Given the description of an element on the screen output the (x, y) to click on. 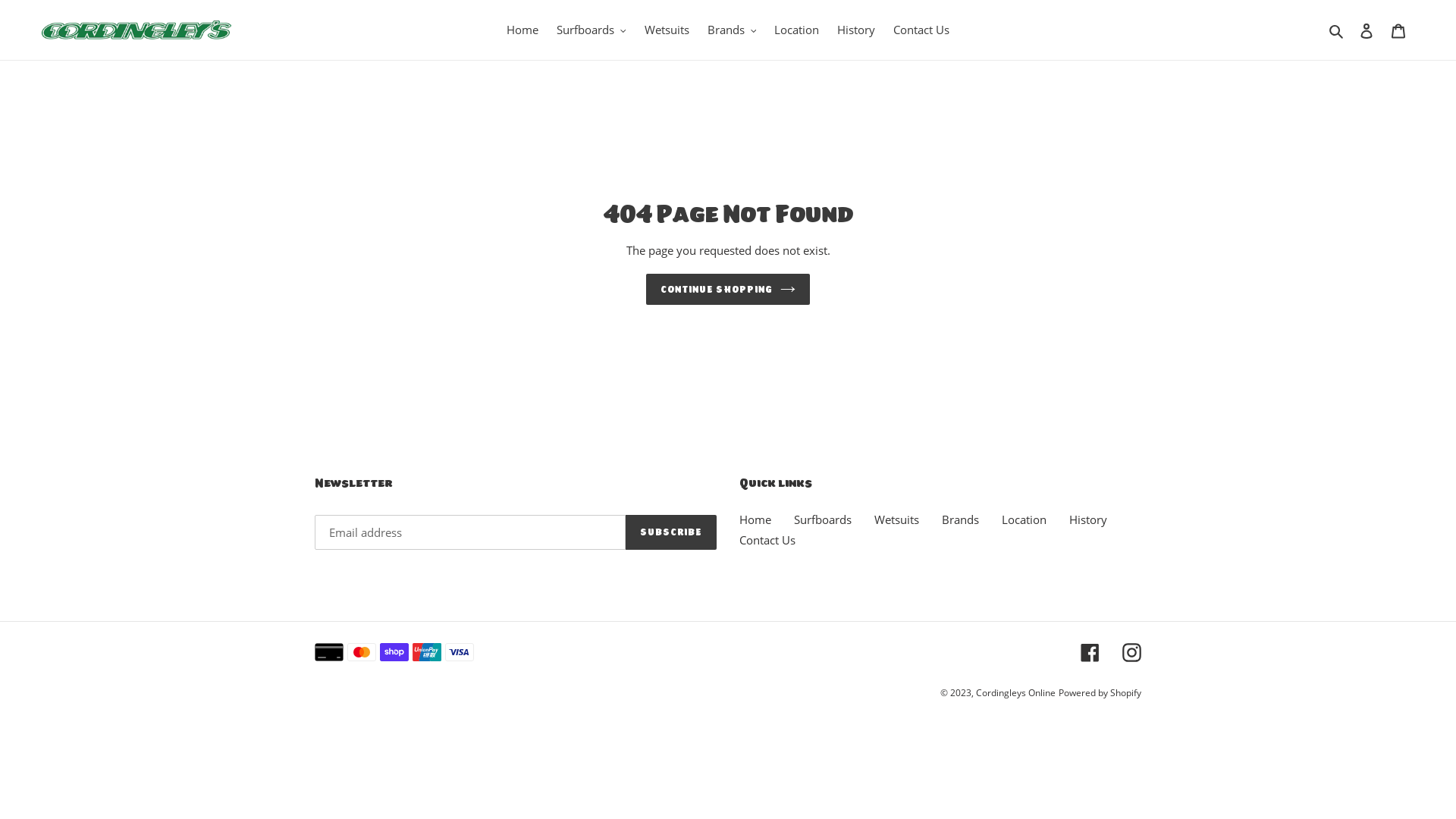
Instagram Element type: text (1131, 652)
Wetsuits Element type: text (896, 519)
Location Element type: text (1023, 519)
Surfboards Element type: text (591, 29)
Brands Element type: text (960, 519)
Location Element type: text (796, 29)
Surfboards Element type: text (822, 519)
Cart Element type: text (1398, 29)
History Element type: text (855, 29)
Powered by Shopify Element type: text (1099, 692)
CONTINUE SHOPPING Element type: text (728, 289)
Facebook Element type: text (1089, 652)
Wetsuits Element type: text (666, 29)
SUBSCRIBE Element type: text (670, 531)
Brands Element type: text (731, 29)
Log in Element type: text (1366, 29)
Home Element type: text (755, 519)
Cordingleys Online Element type: text (1015, 692)
Contact Us Element type: text (767, 539)
Home Element type: text (522, 29)
History Element type: text (1088, 519)
Contact Us Element type: text (921, 29)
Search Element type: text (1337, 29)
